Given the description of an element on the screen output the (x, y) to click on. 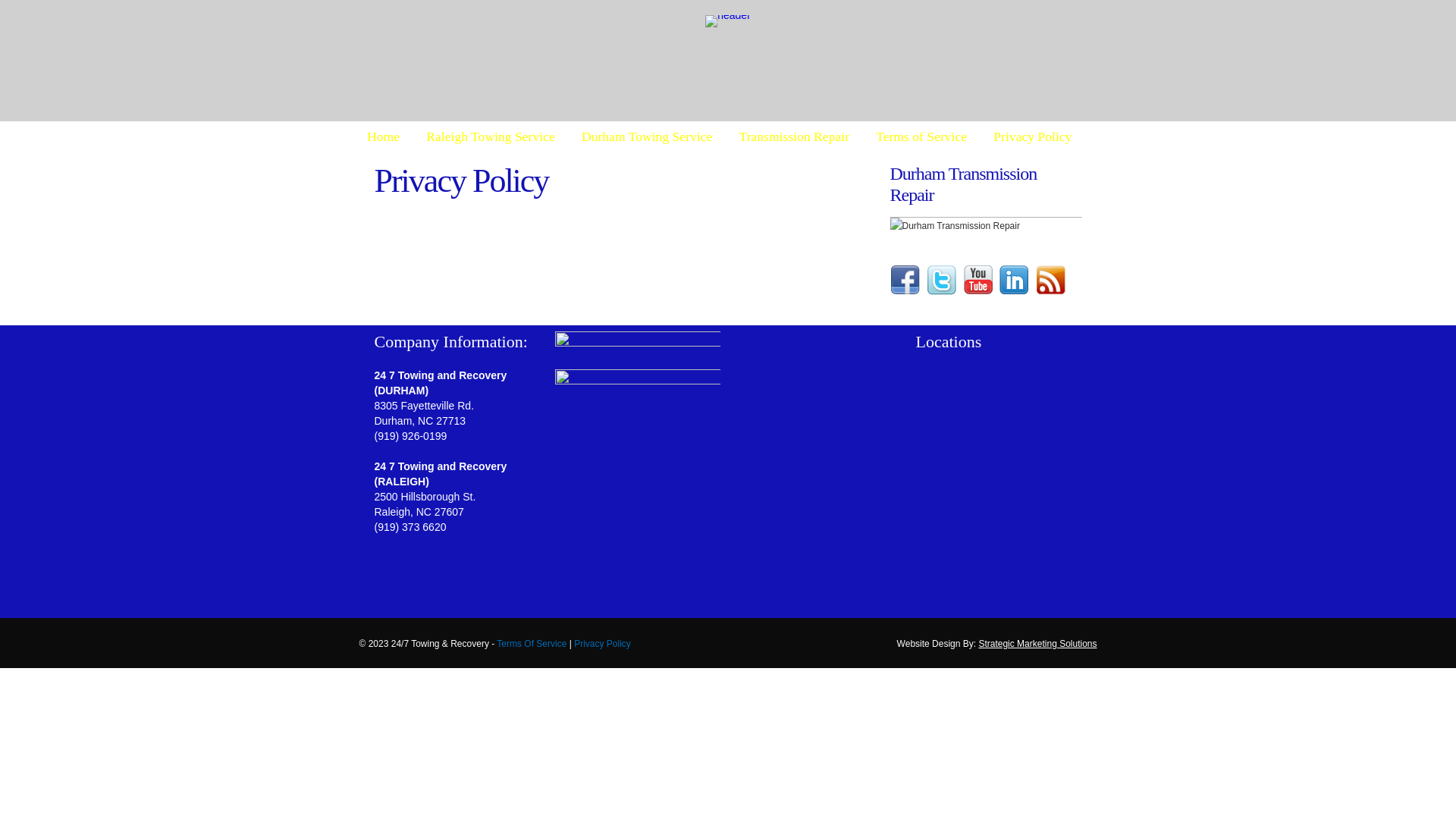
Privacy Policy Element type: text (602, 643)
Terms Of Service Element type: text (531, 643)
Strategic Marketing Solutions Element type: text (1037, 643)
Durham Towing Service Element type: text (646, 136)
(919) 926-0199 Element type: text (410, 435)
Home Element type: text (382, 136)
Raleigh Towing Service Element type: text (490, 136)
(919) 373 6620 Element type: text (410, 526)
Transmission Repair Element type: text (793, 136)
Privacy Policy Element type: text (1032, 136)
Terms of Service Element type: text (921, 136)
